Given the description of an element on the screen output the (x, y) to click on. 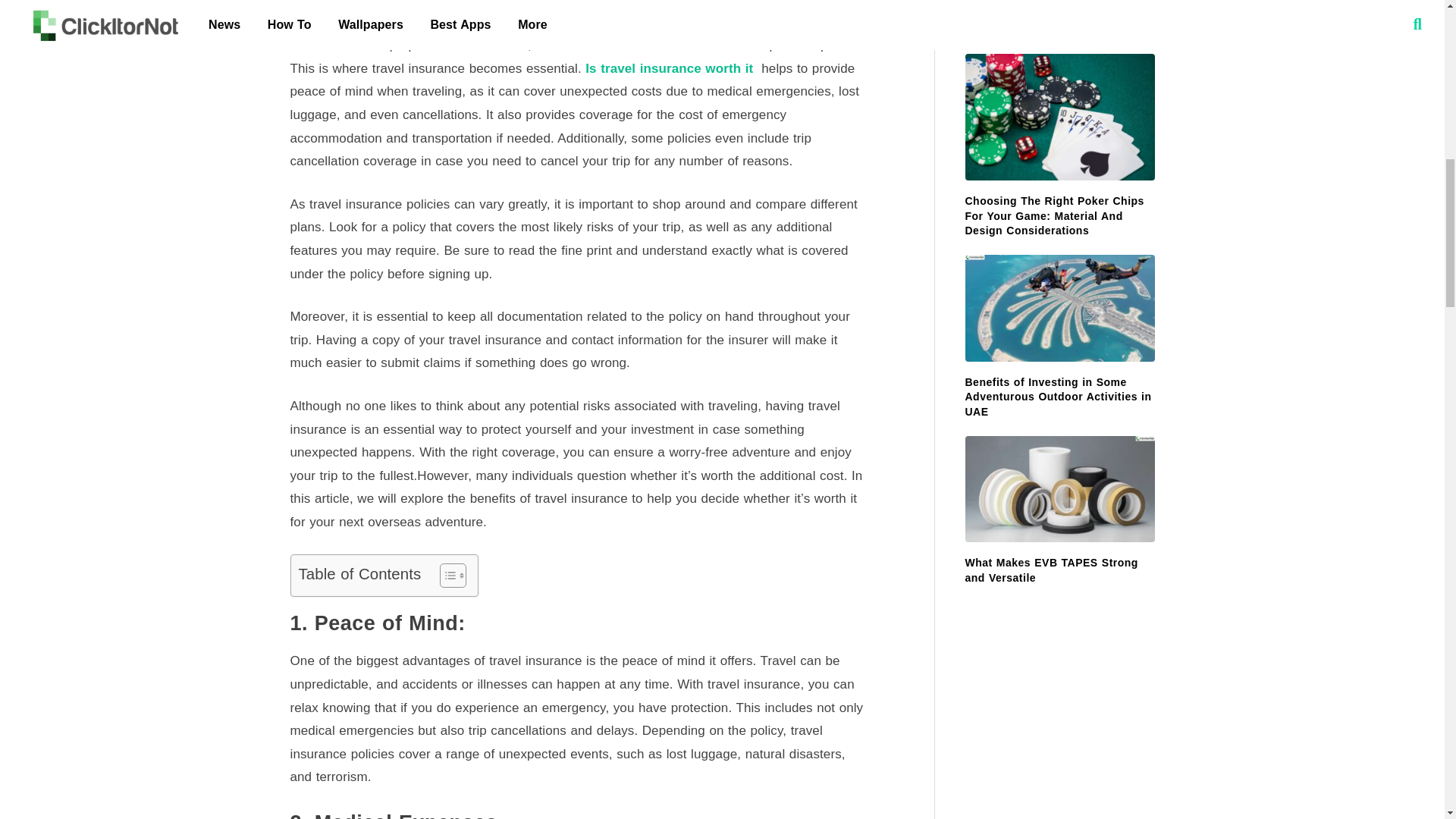
Is travel insurance worth it (668, 68)
